Given the description of an element on the screen output the (x, y) to click on. 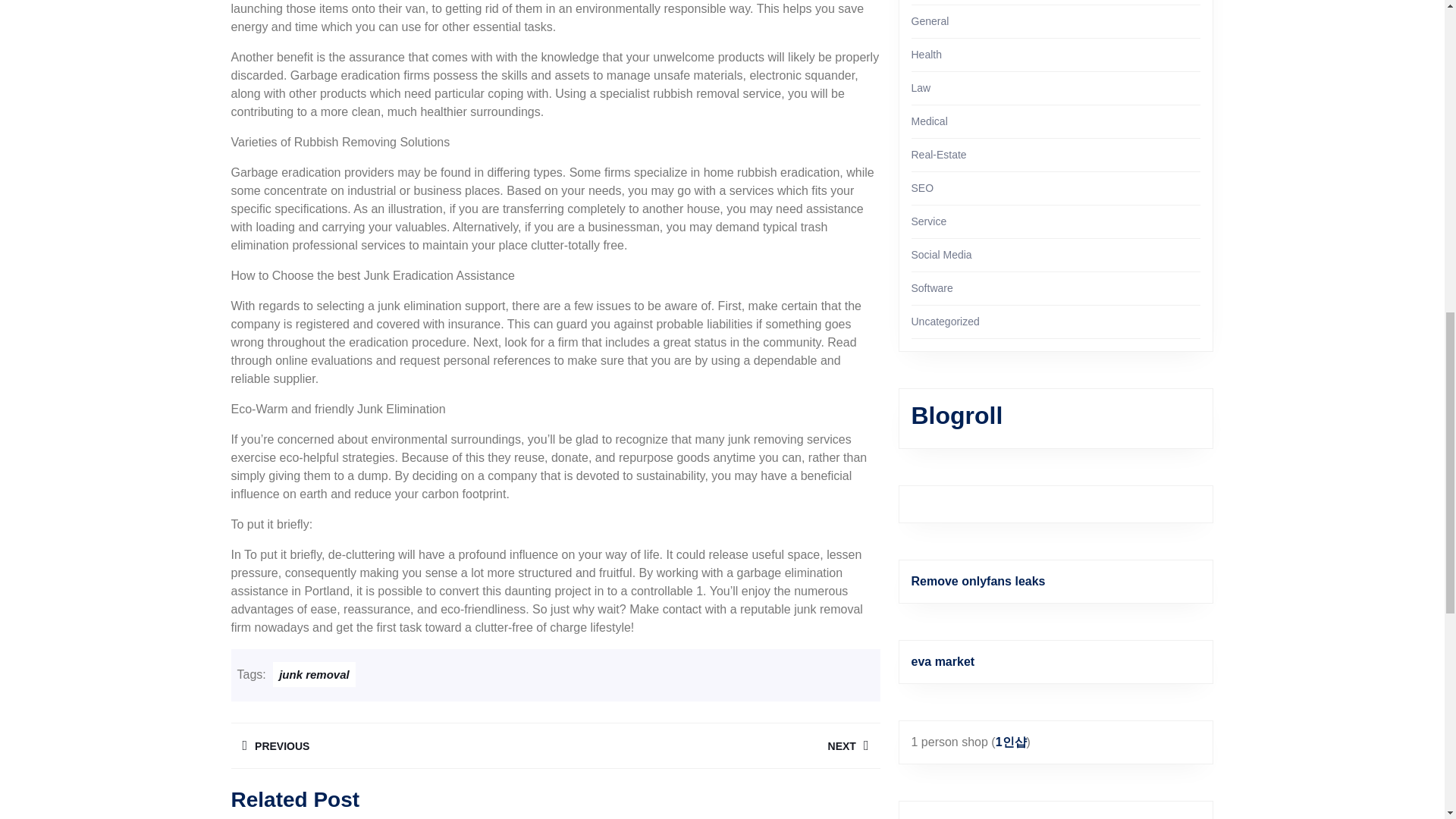
junk removal (716, 745)
